Given the description of an element on the screen output the (x, y) to click on. 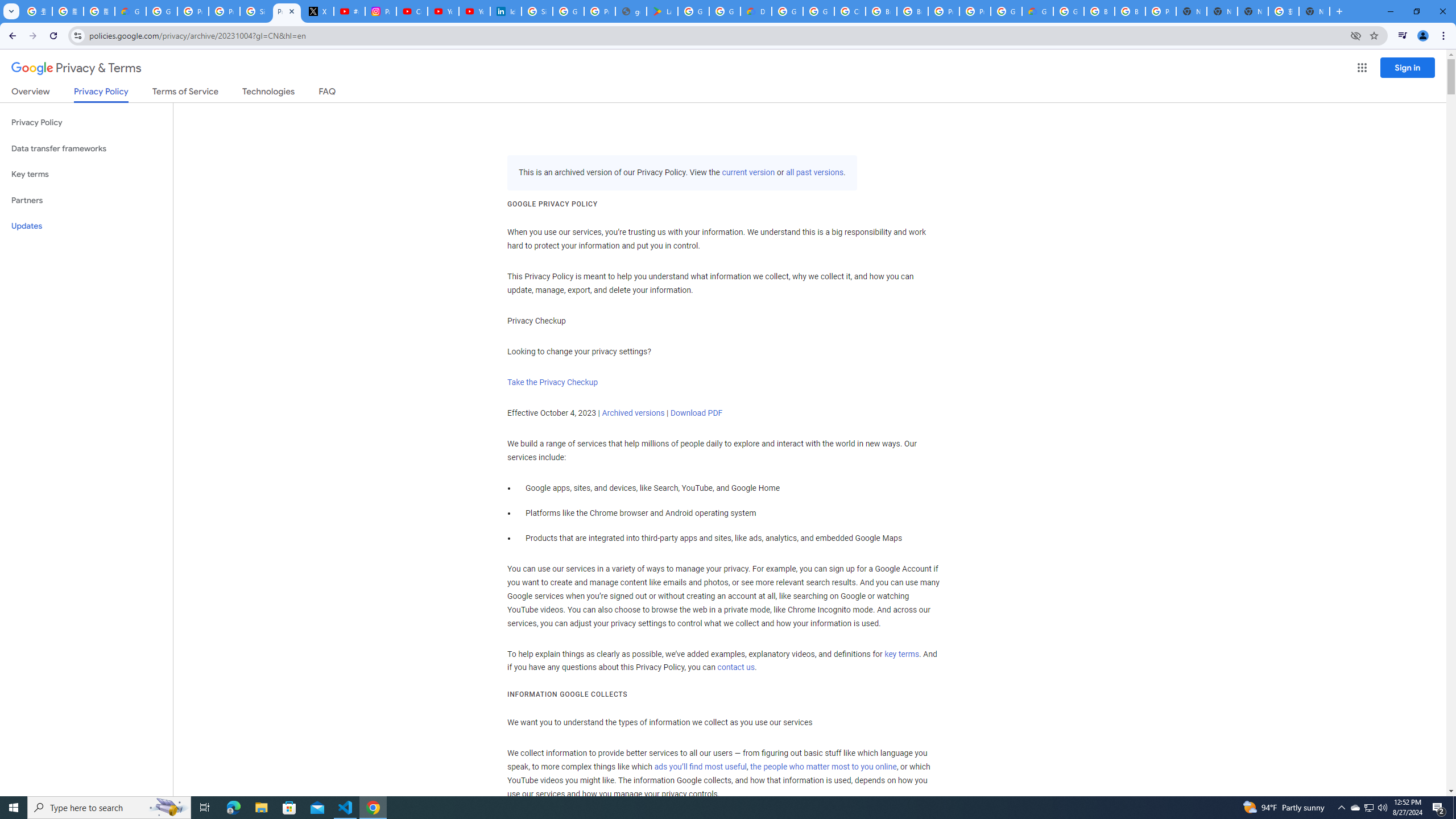
Partners (86, 199)
#nbabasketballhighlights - YouTube (349, 11)
Google Cloud Platform (787, 11)
Sign in - Google Accounts (536, 11)
